Given the description of an element on the screen output the (x, y) to click on. 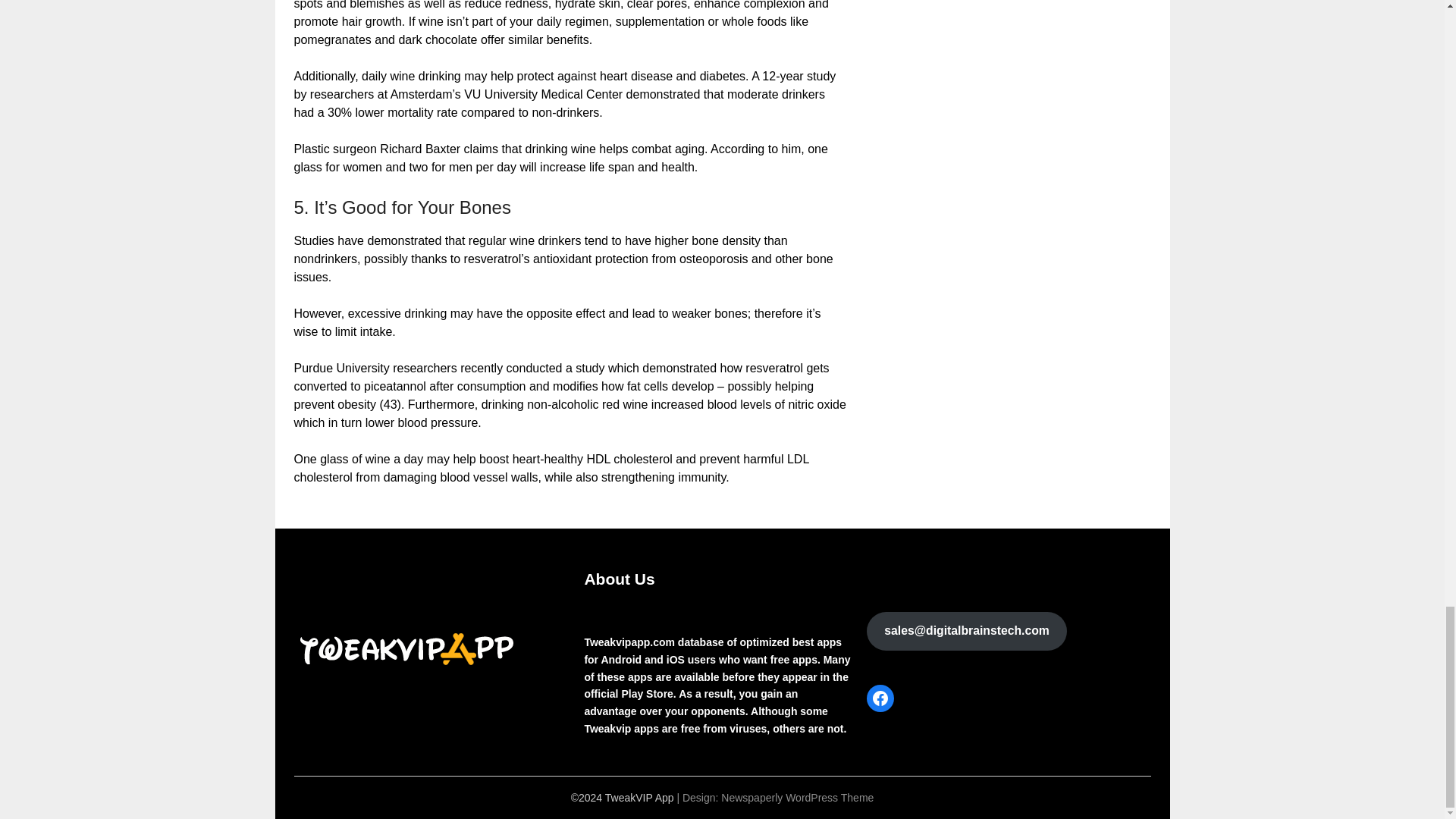
Facebook (879, 697)
Newspaperly WordPress Theme (796, 797)
